Given the description of an element on the screen output the (x, y) to click on. 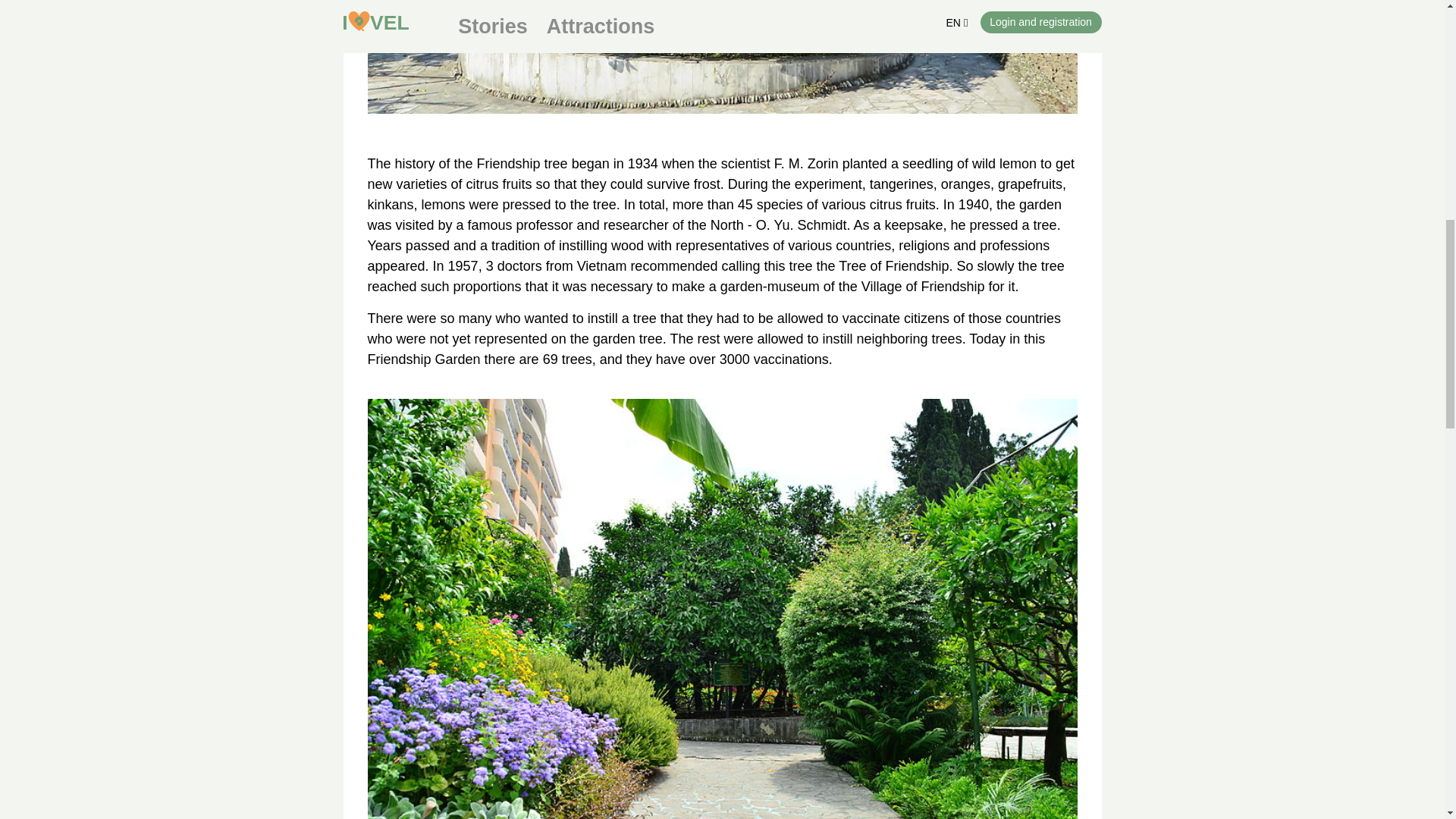
Friendship tree (721, 56)
